Given the description of an element on the screen output the (x, y) to click on. 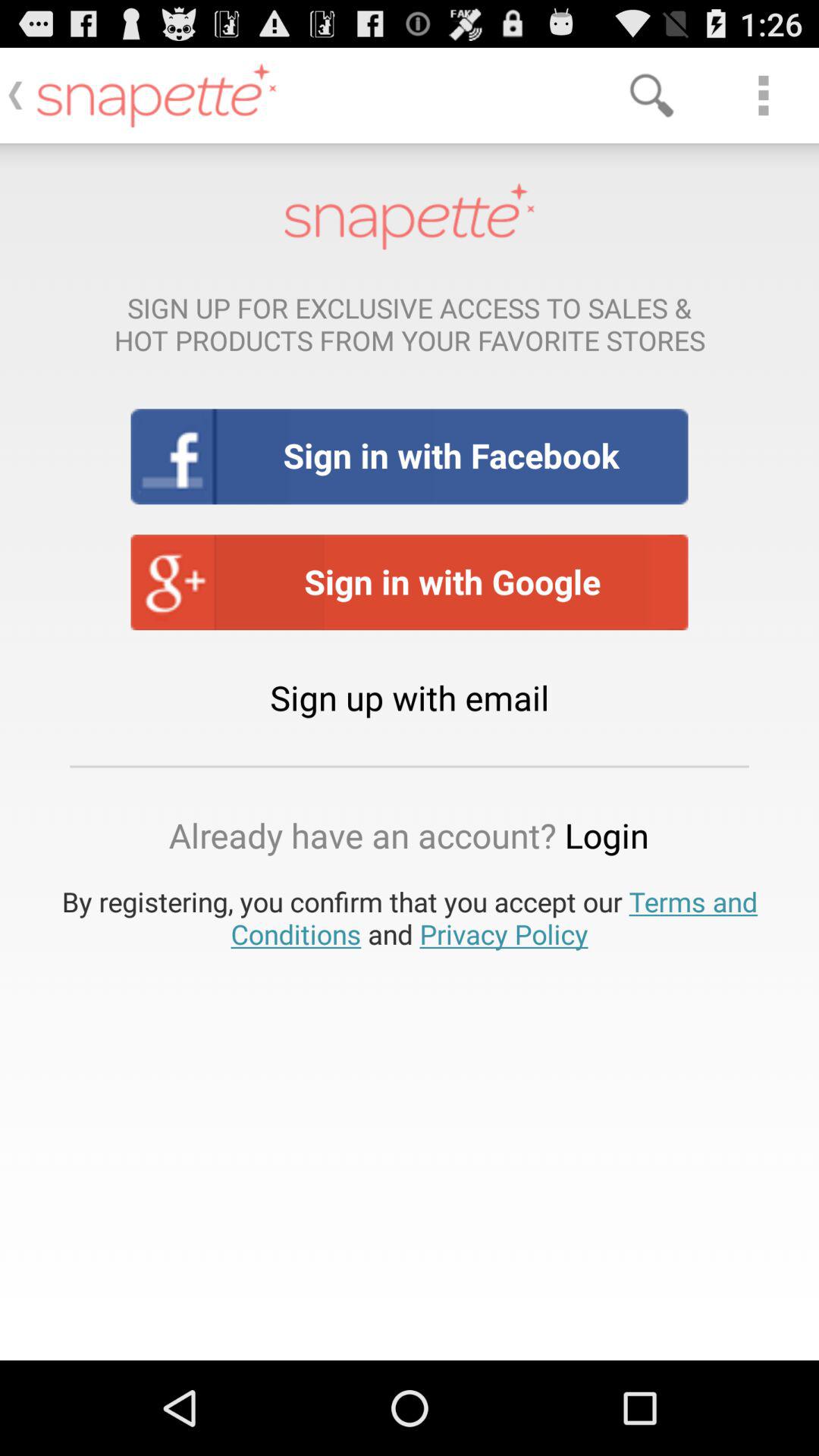
scroll to the already have an (408, 835)
